Given the description of an element on the screen output the (x, y) to click on. 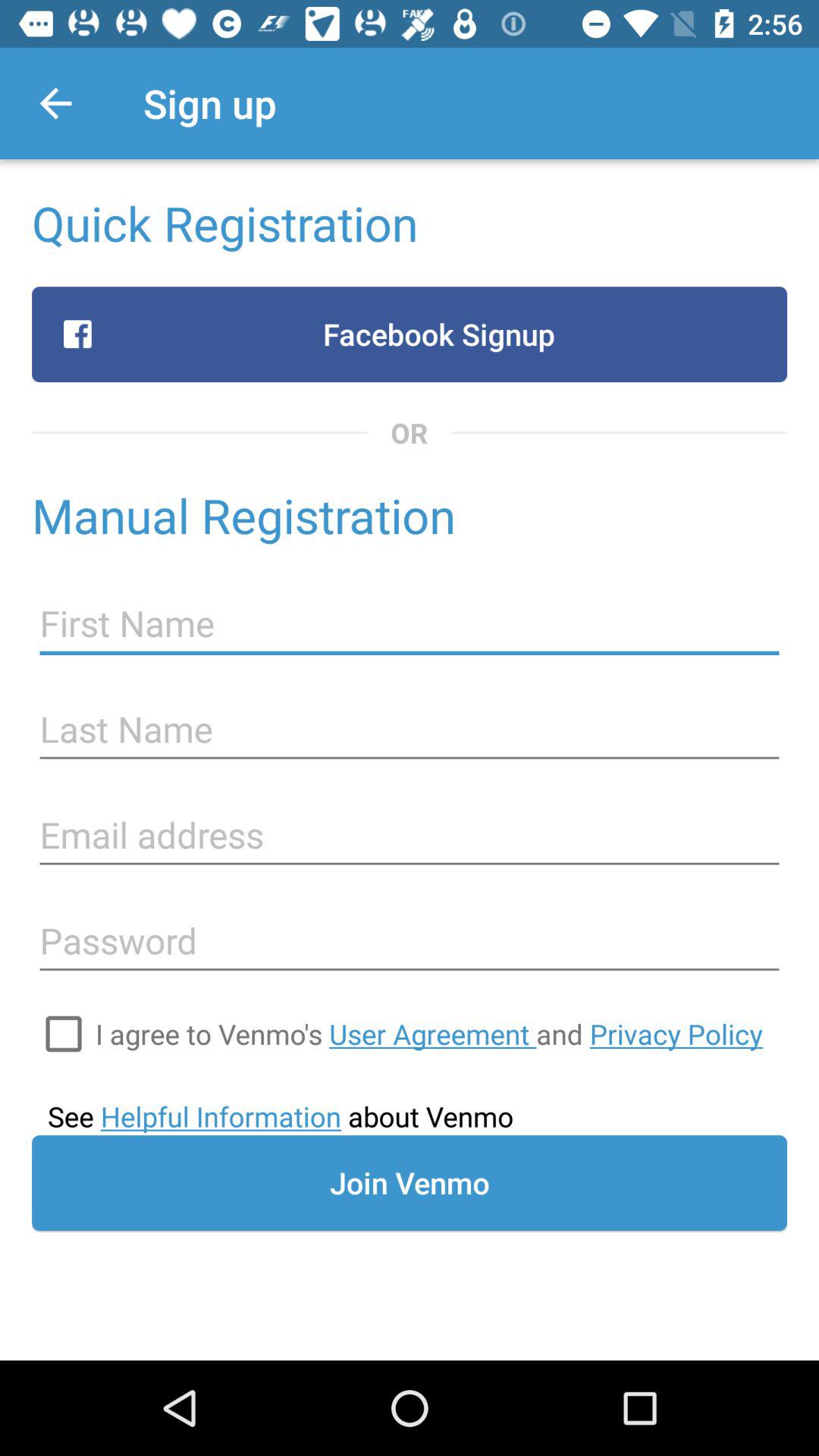
enter password (409, 941)
